Given the description of an element on the screen output the (x, y) to click on. 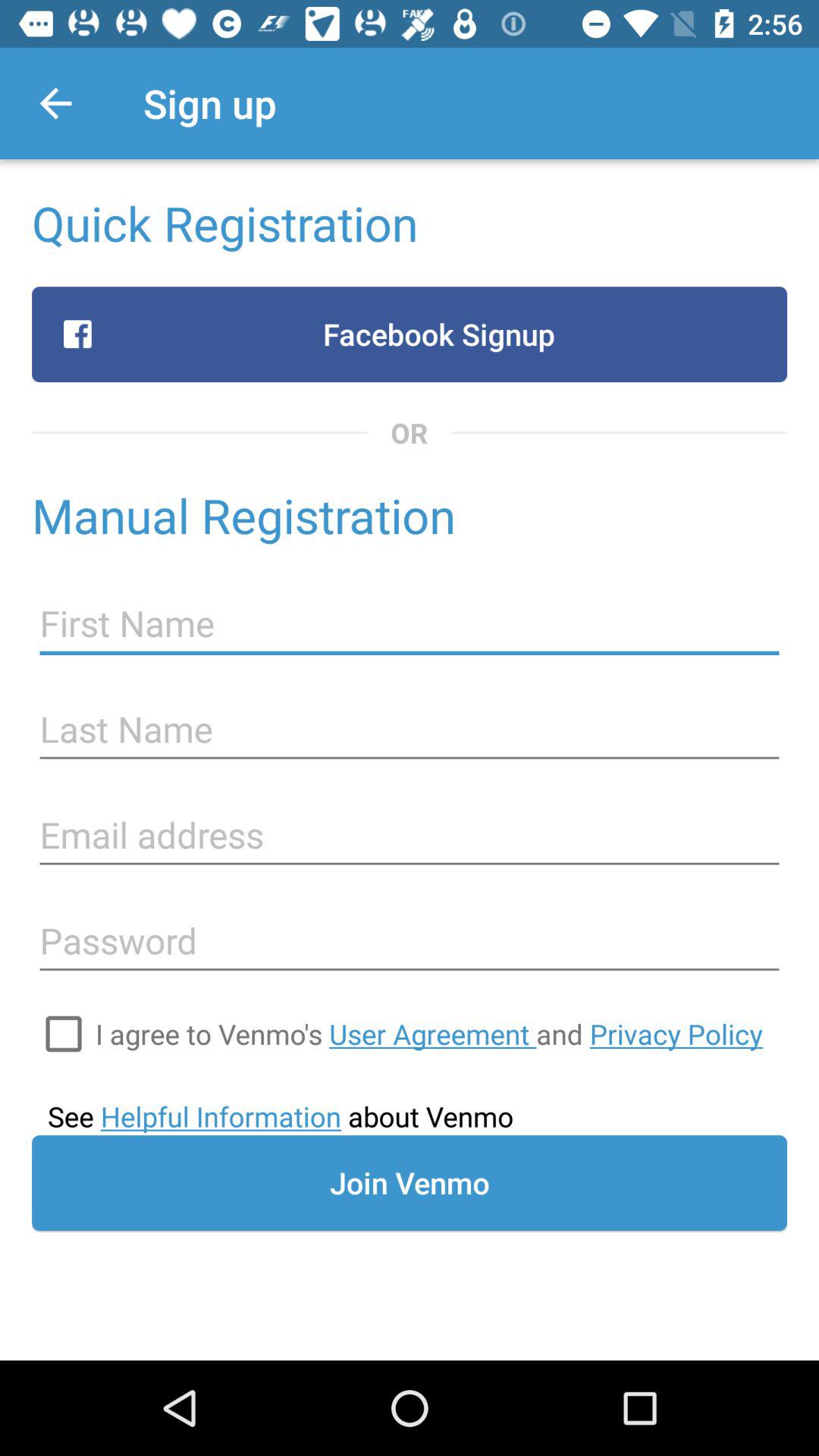
enter password (409, 941)
